Given the description of an element on the screen output the (x, y) to click on. 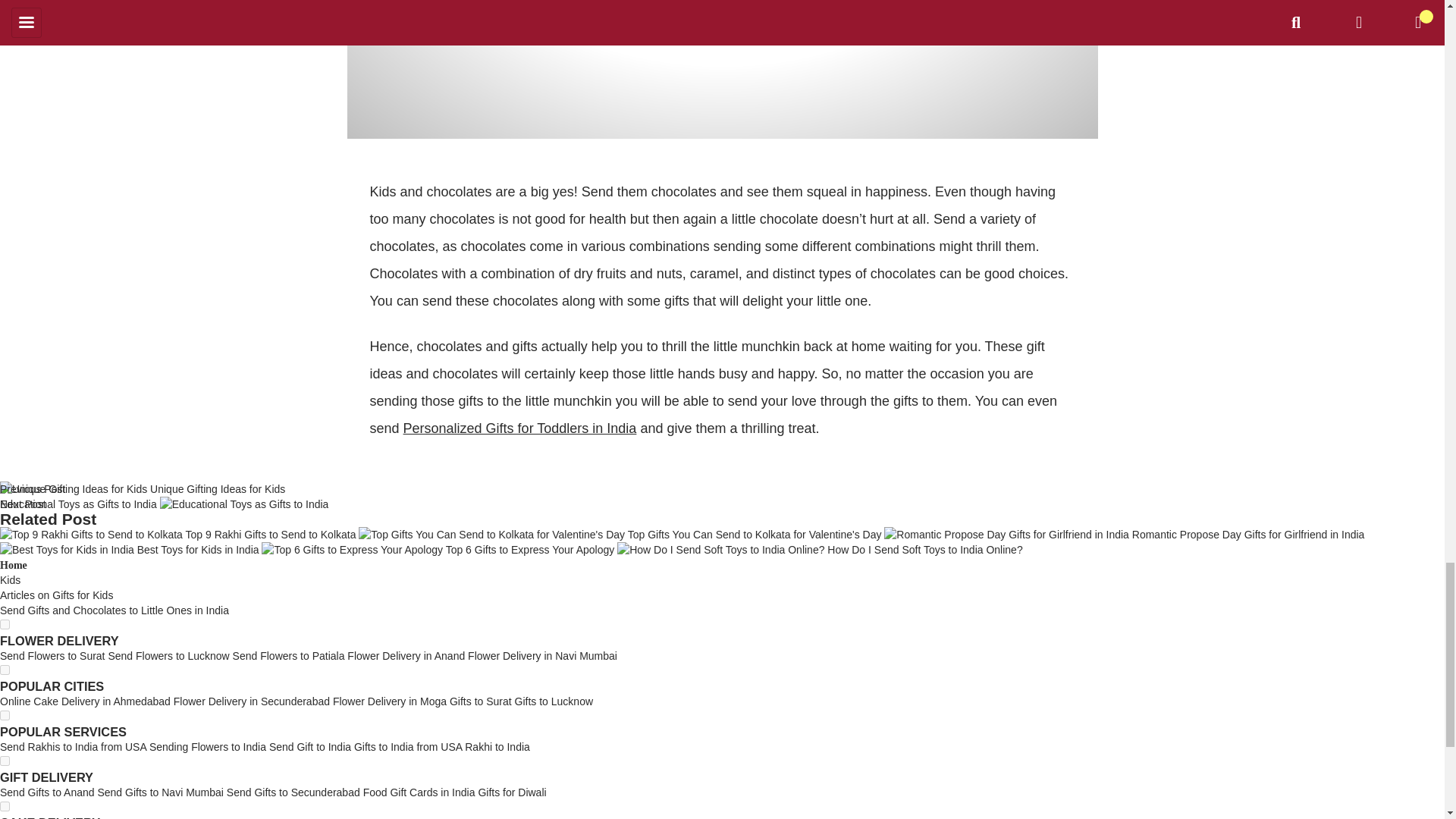
on (5, 806)
on (5, 624)
on (5, 760)
on (5, 669)
on (5, 715)
